Given the description of an element on the screen output the (x, y) to click on. 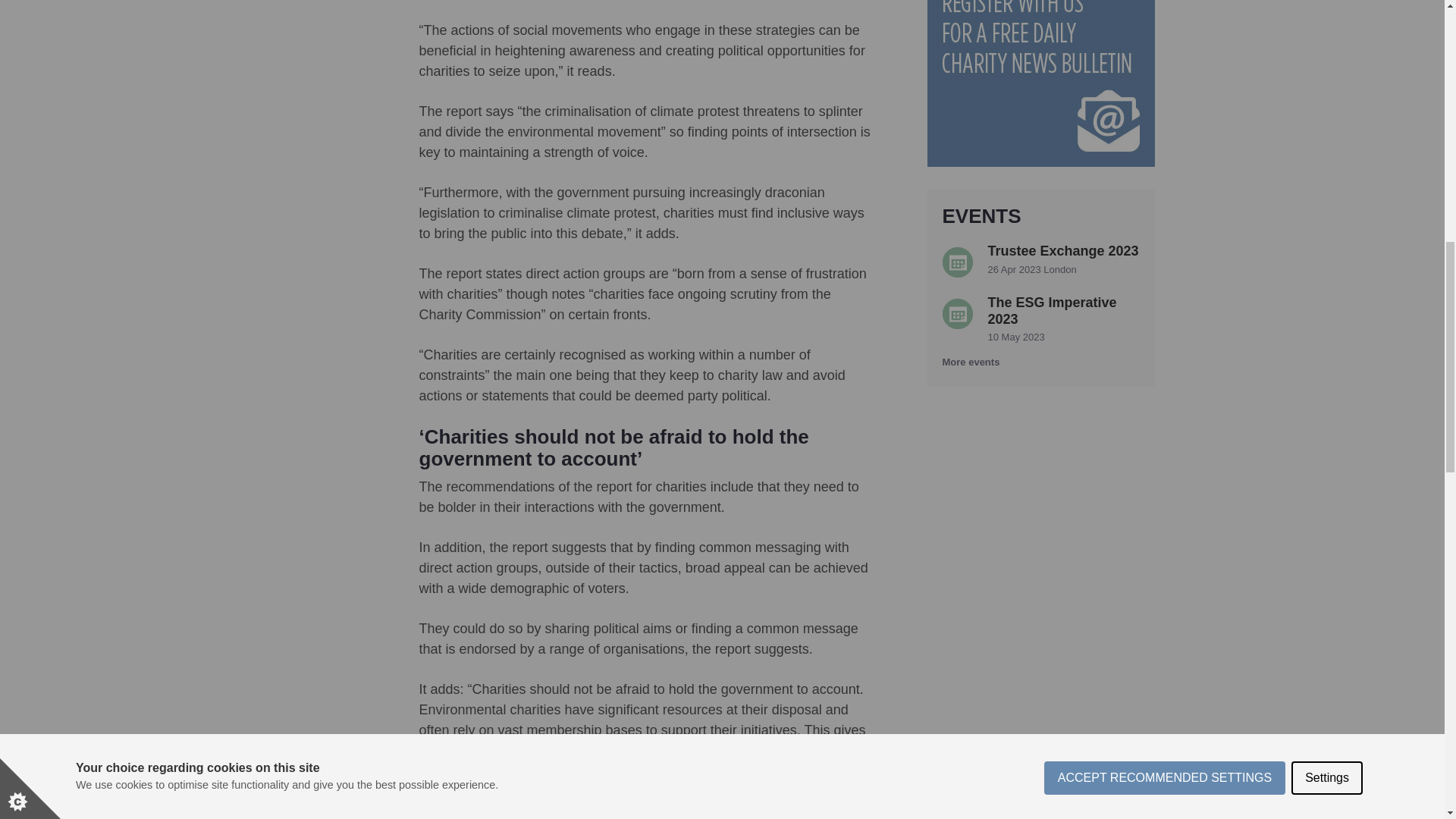
ACCEPT RECOMMENDED SETTINGS (1164, 24)
Settings (1326, 17)
